Given the description of an element on the screen output the (x, y) to click on. 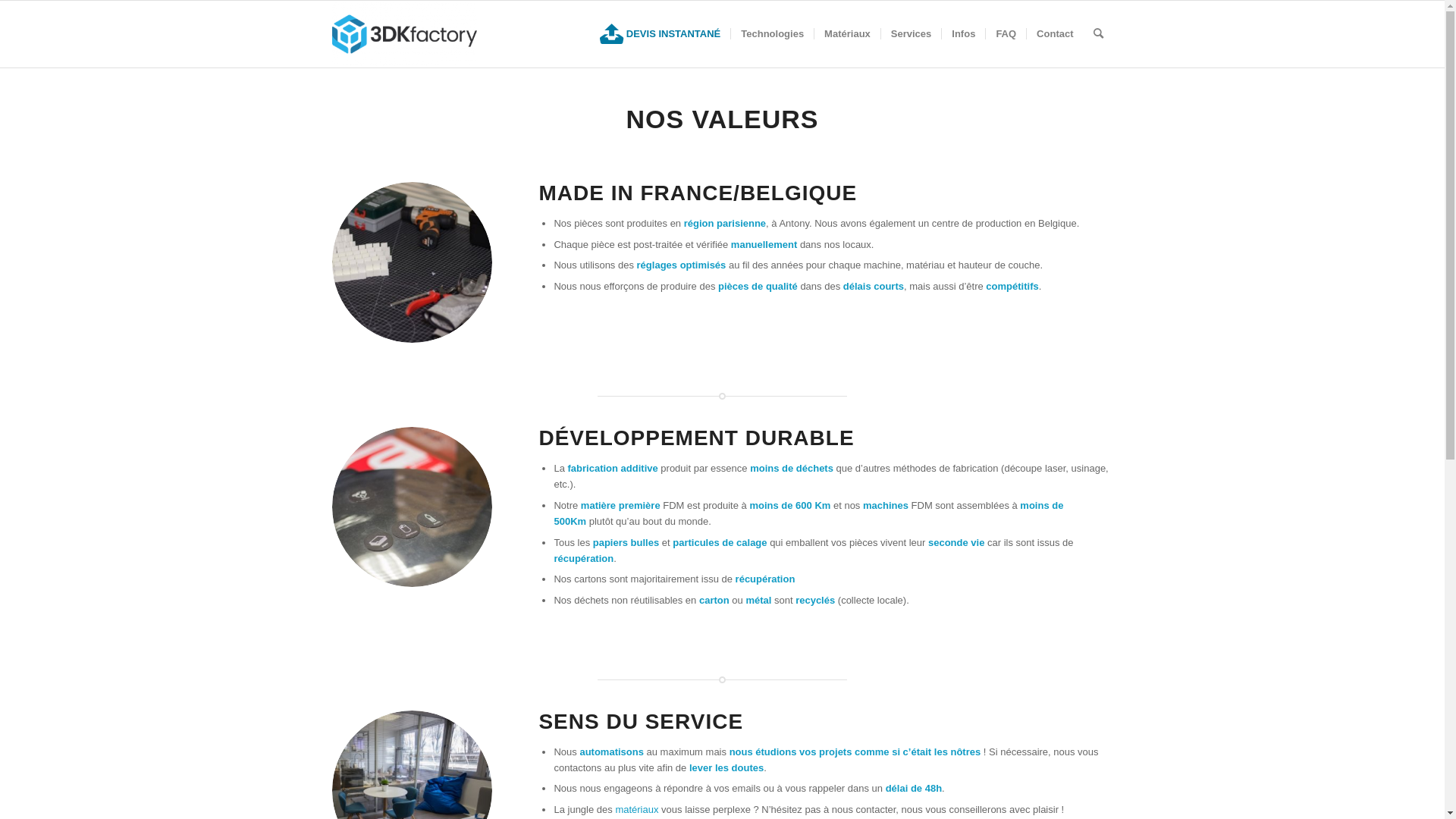
Services Element type: text (910, 33)
Contact Element type: text (1054, 33)
Infos Element type: text (963, 33)
Technologies Element type: text (771, 33)
Post traitement manuel Element type: hover (412, 262)
FAQ Element type: text (1005, 33)
